Given the description of an element on the screen output the (x, y) to click on. 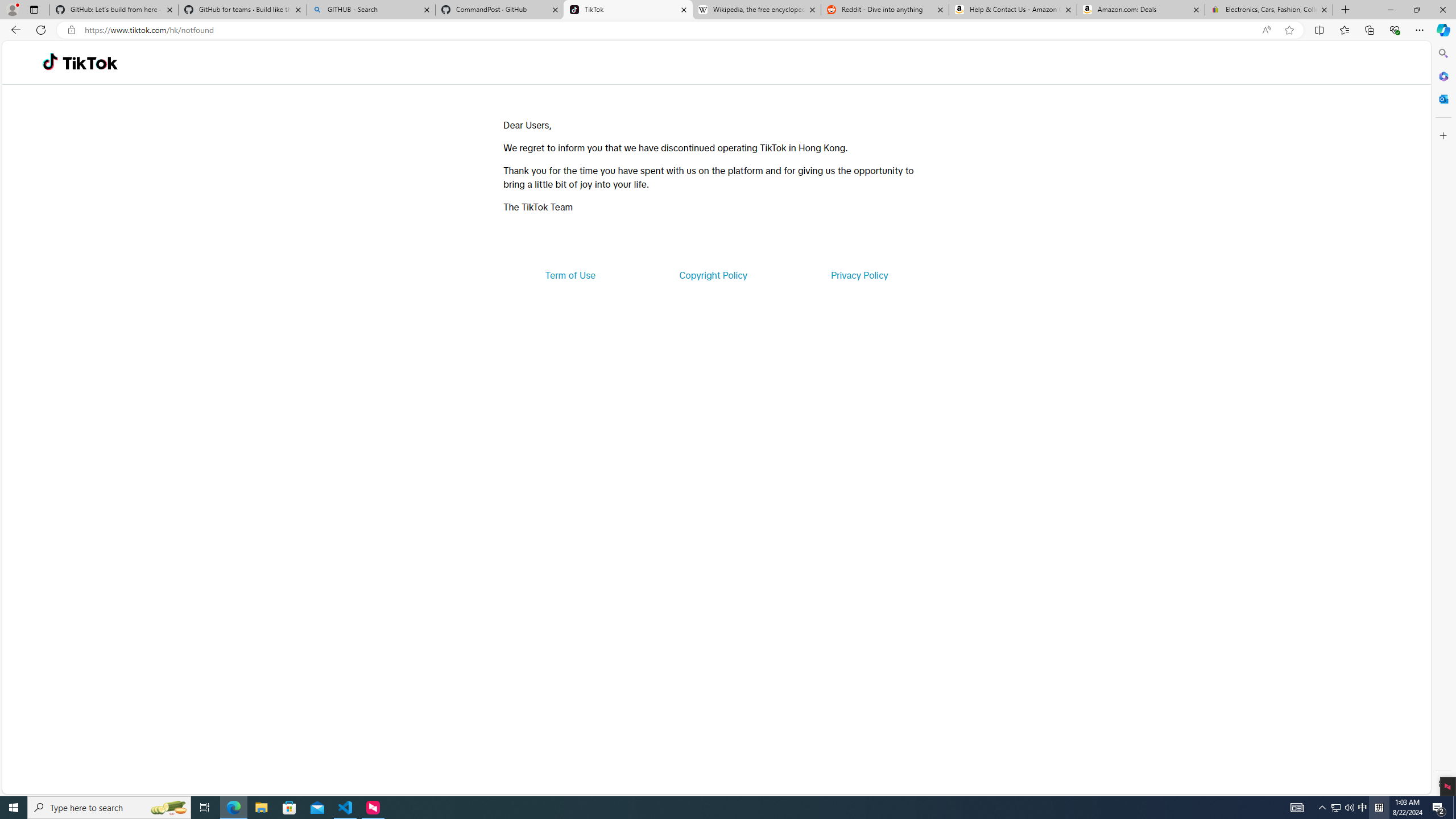
Wikipedia, the free encyclopedia (756, 9)
Copyright Policy (712, 274)
GITHUB - Search (370, 9)
